Given the description of an element on the screen output the (x, y) to click on. 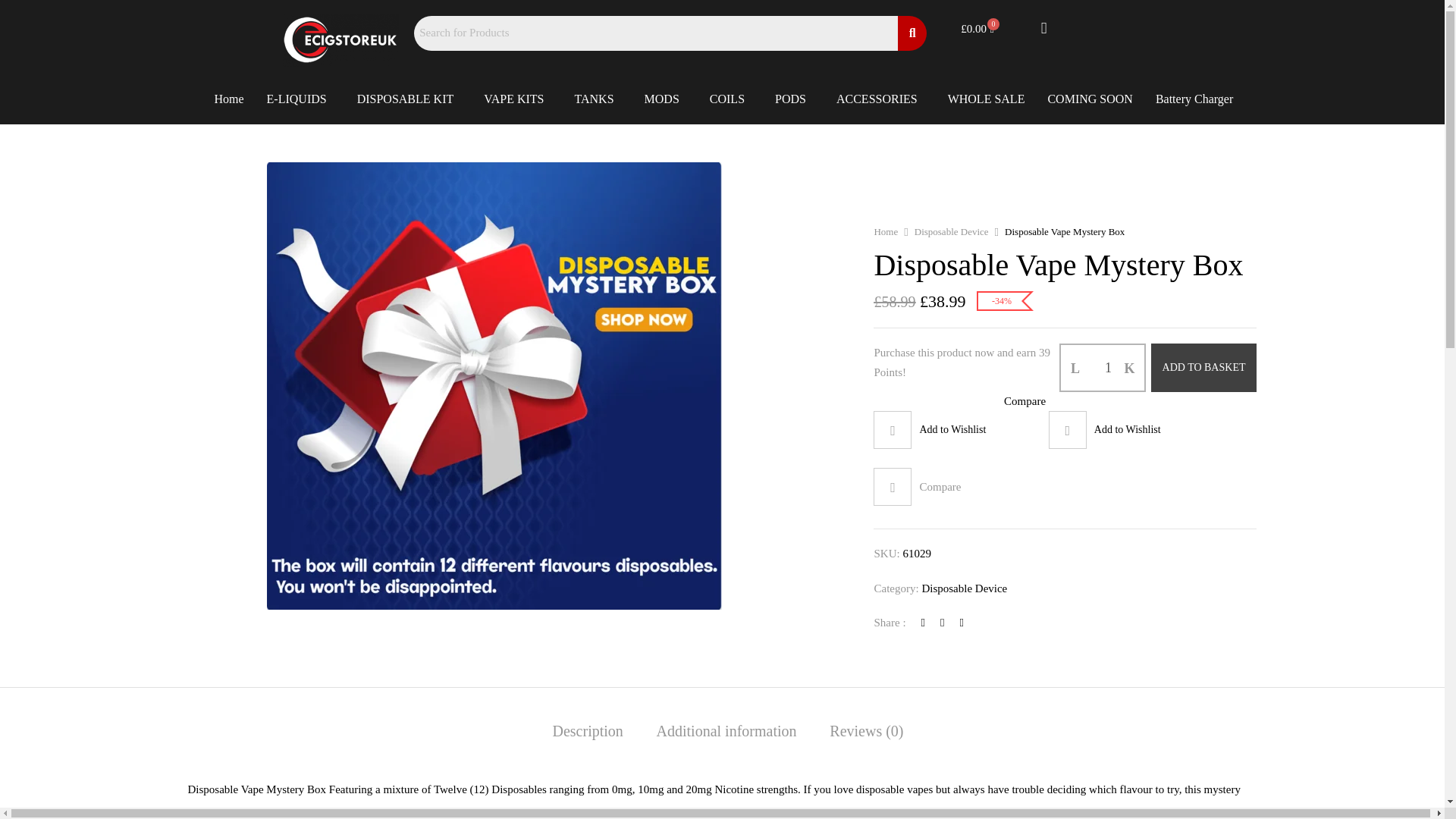
Search (655, 32)
Home (228, 99)
1 (1108, 367)
E-LIQUIDS (301, 99)
